Given the description of an element on the screen output the (x, y) to click on. 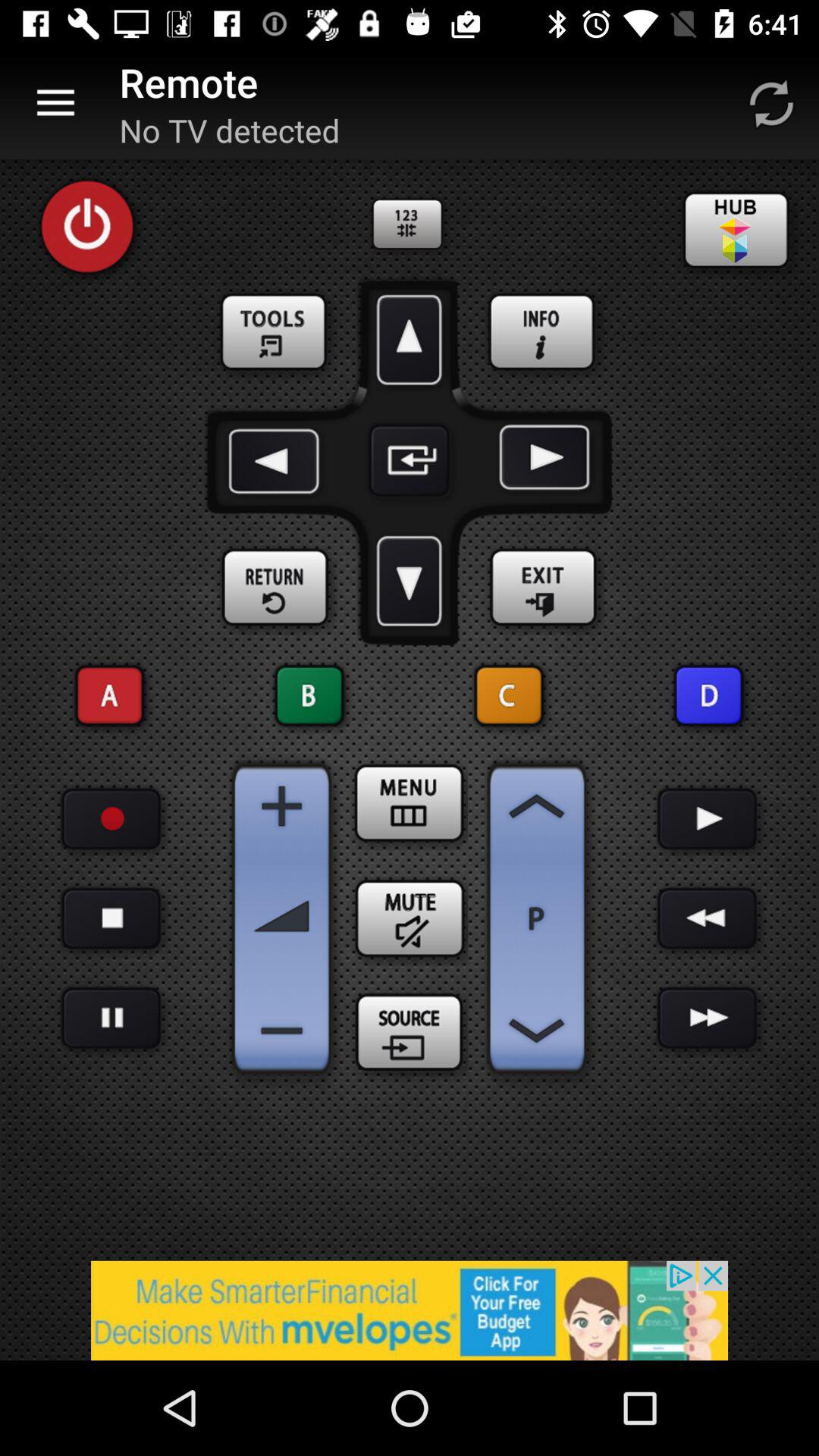
channel down (536, 1031)
